Given the description of an element on the screen output the (x, y) to click on. 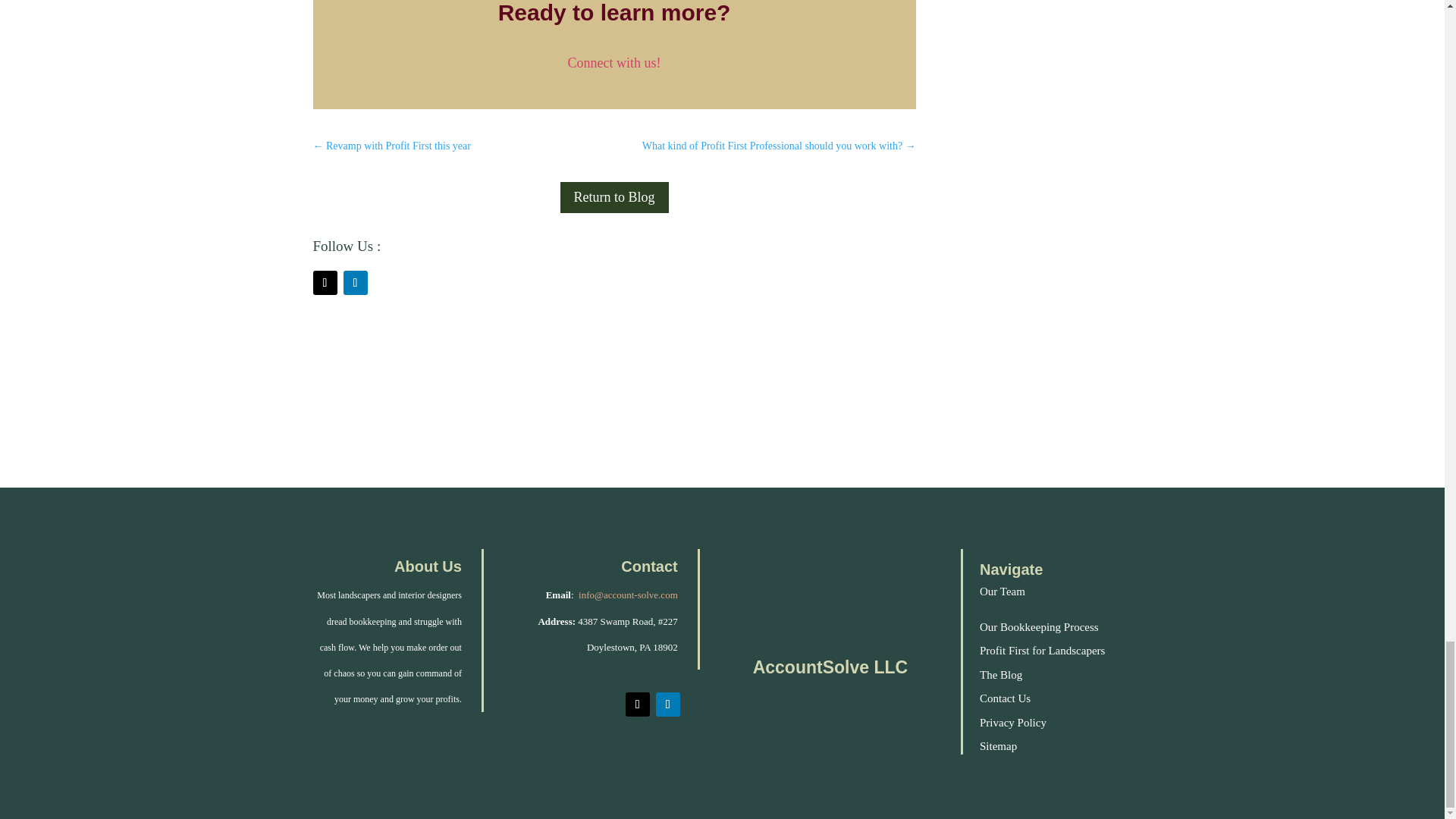
Follow on Instagram (324, 282)
Connect with us! (614, 62)
Follow on Instagram (637, 704)
Follow on LinkedIn (667, 704)
Follow on LinkedIn (354, 282)
Return to Blog (614, 196)
